Given the description of an element on the screen output the (x, y) to click on. 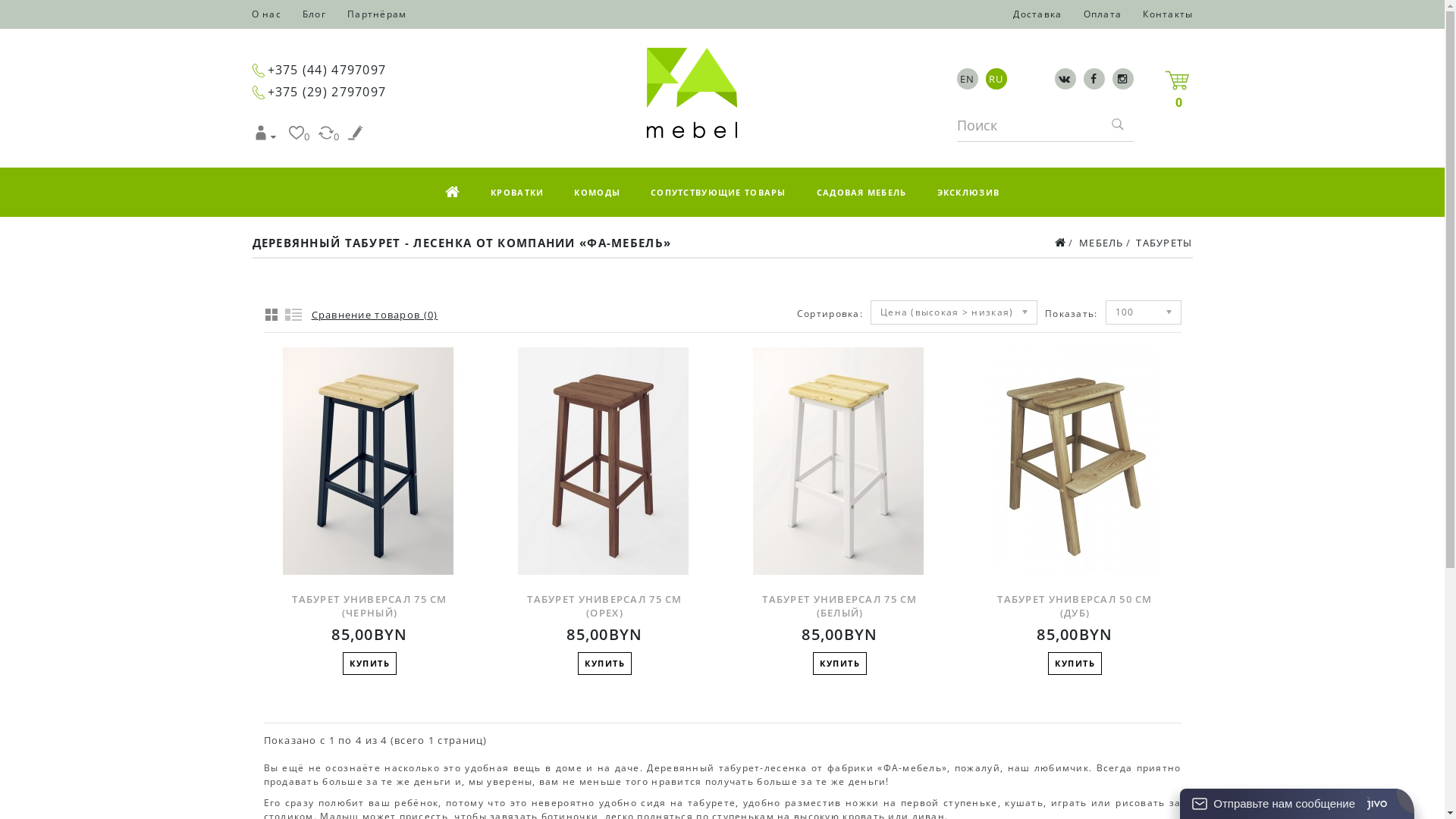
0 Element type: text (328, 136)
+375 (29) 2797097 Element type: text (325, 91)
EN Element type: text (967, 78)
RU Element type: text (996, 78)
0 Element type: text (1176, 79)
0 Element type: text (299, 136)
+375 (44) 4797097 Element type: text (325, 69)
